Given the description of an element on the screen output the (x, y) to click on. 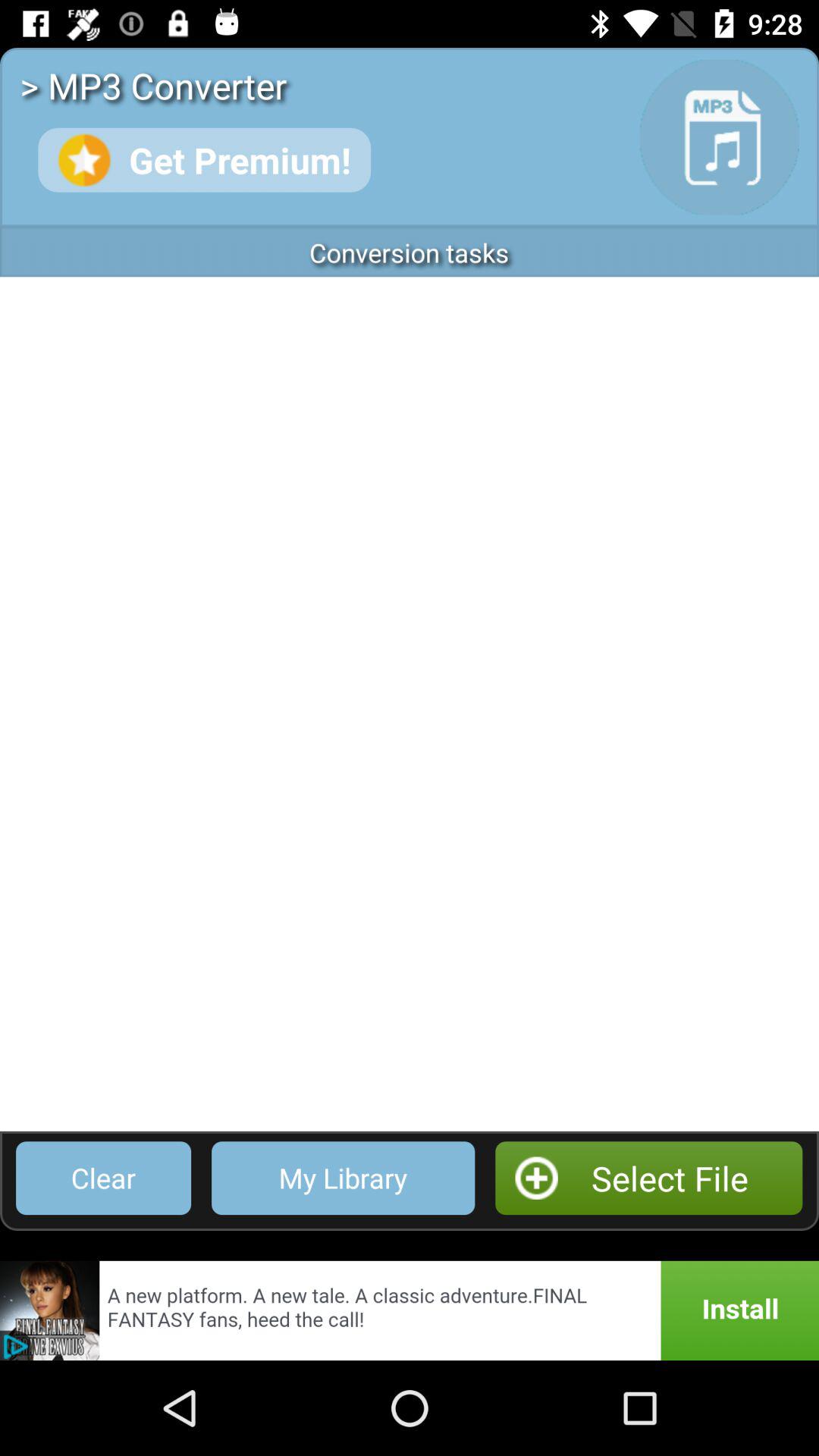
tap the clear at the bottom left corner (103, 1177)
